Given the description of an element on the screen output the (x, y) to click on. 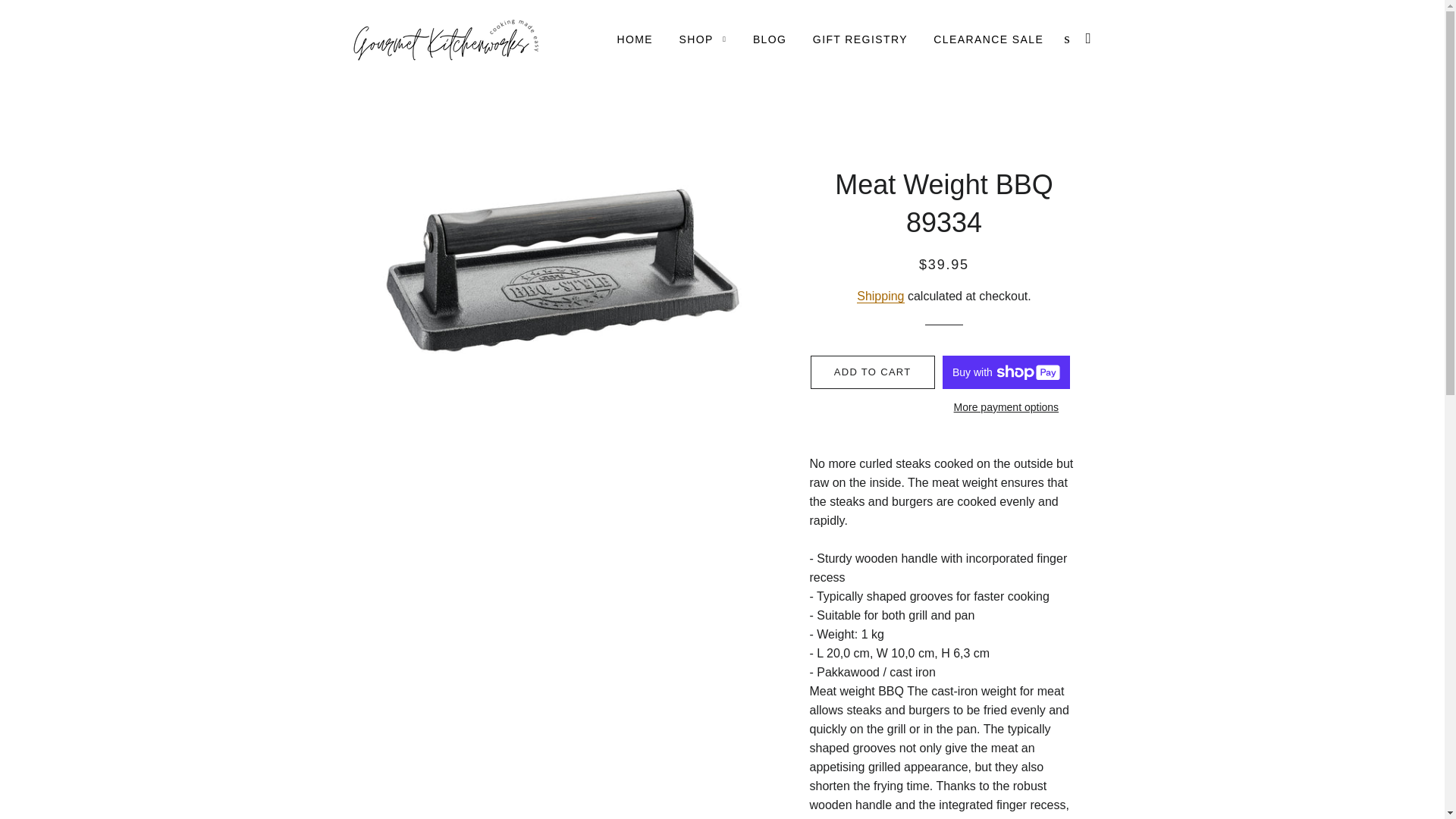
SHOP (703, 39)
HOME (634, 39)
GIFT REGISTRY (860, 39)
CLEARANCE SALE (987, 39)
BLOG (769, 39)
